Given the description of an element on the screen output the (x, y) to click on. 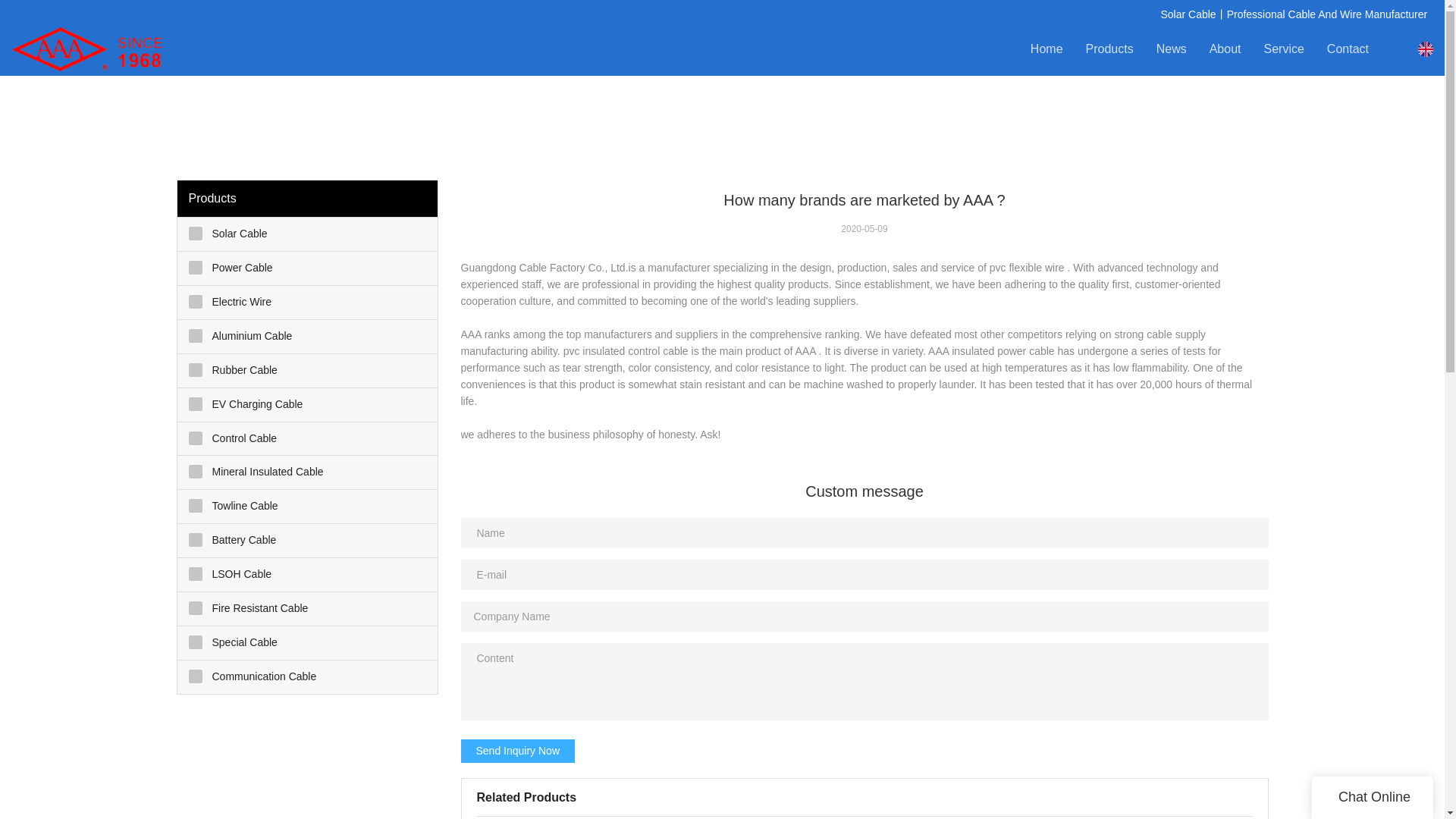
Rubber Cable (307, 370)
Aluminium Cable (307, 336)
Electric Wire (307, 302)
Products (1110, 49)
EV Charging Cable (307, 404)
Control Cable (307, 438)
Solar Cable (307, 233)
Power Cable (307, 268)
